Given the description of an element on the screen output the (x, y) to click on. 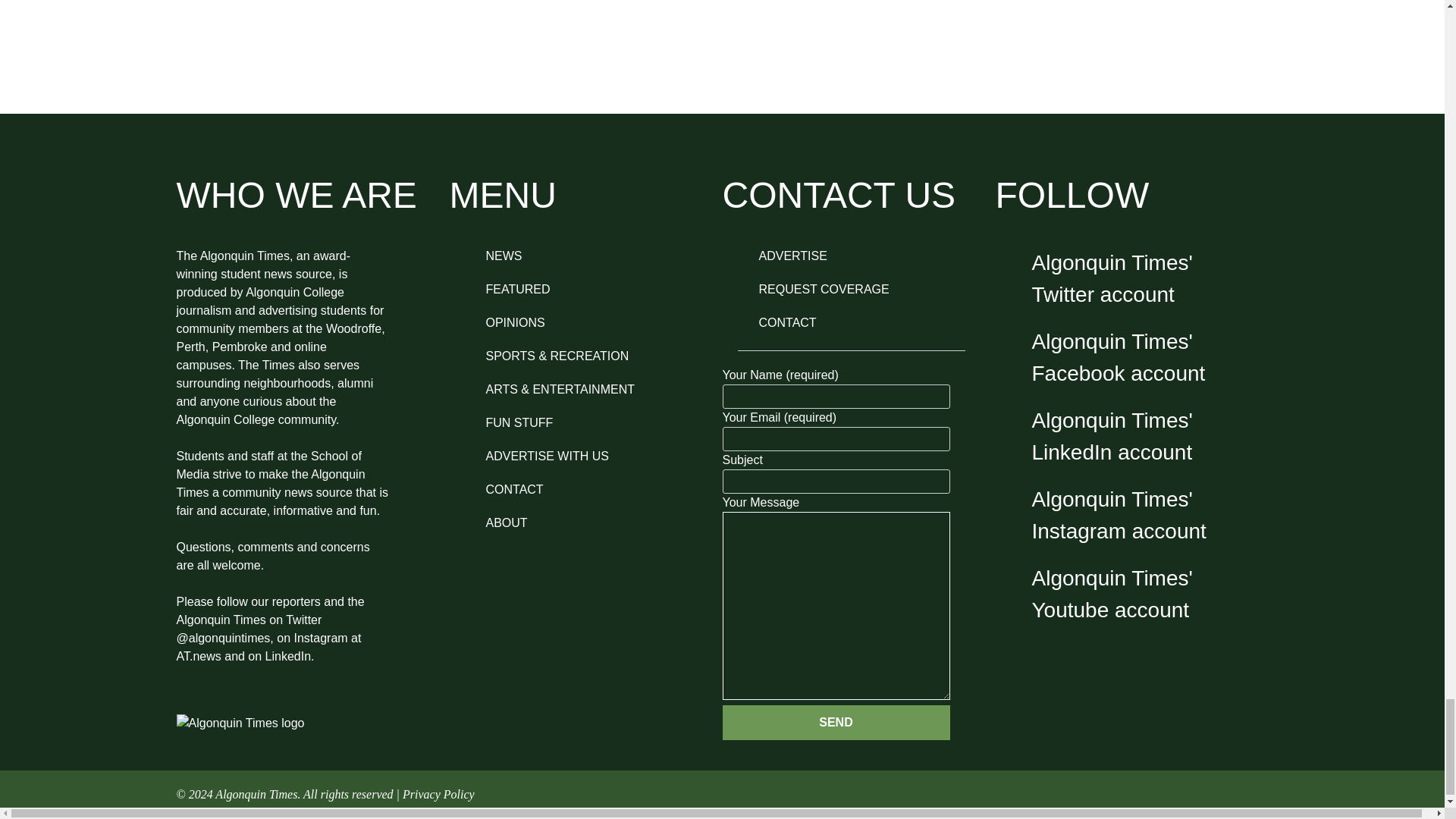
Send (835, 722)
